Given the description of an element on the screen output the (x, y) to click on. 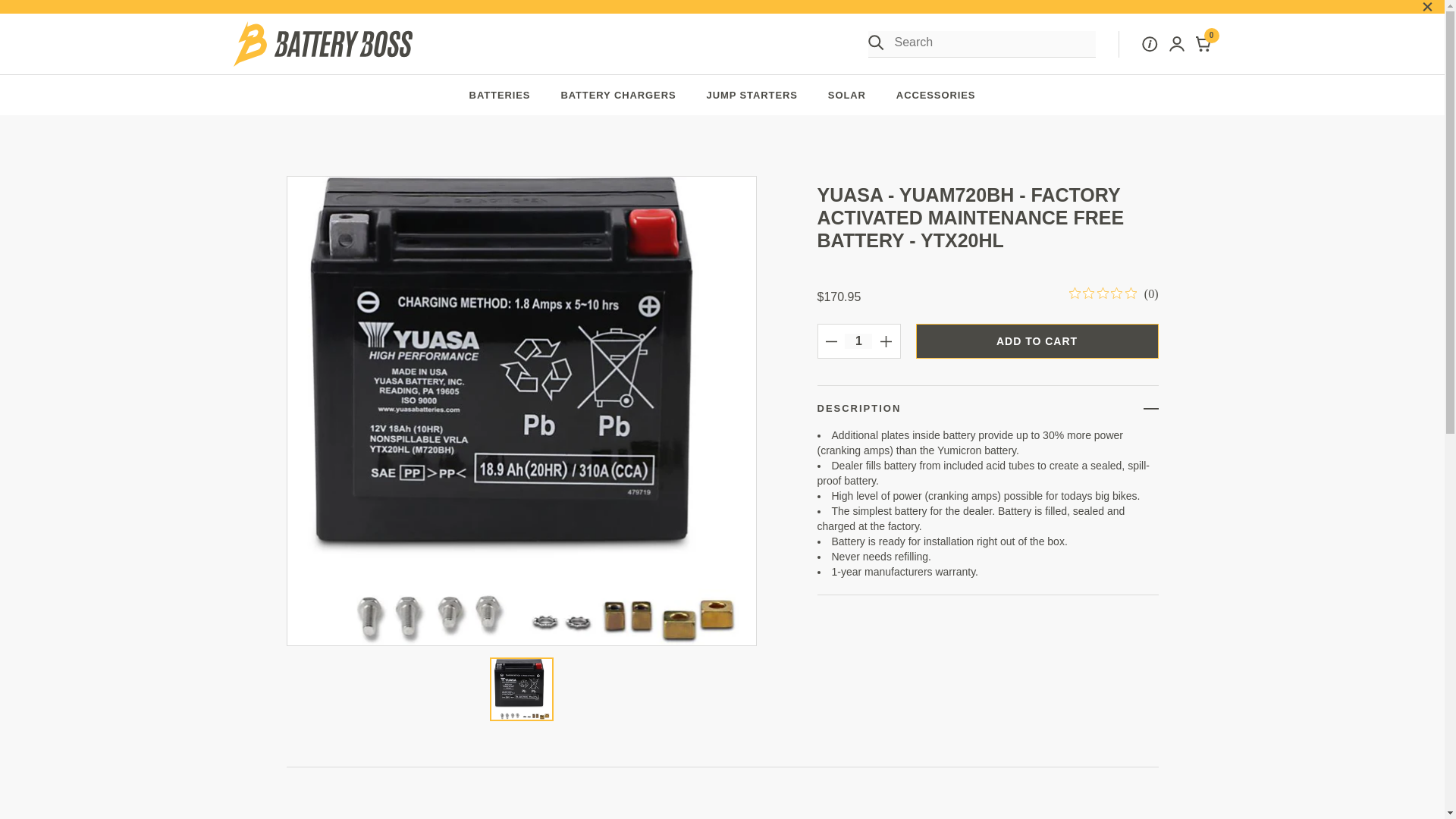
BATTERIES (500, 95)
DESCRIPTION (987, 408)
JUMP STARTERS (751, 95)
ACCESSORIES (935, 95)
1 (858, 340)
Search (875, 42)
Account (1203, 44)
Close Alert Bar (1177, 43)
BATTERY CHARGERS (1427, 7)
